Given the description of an element on the screen output the (x, y) to click on. 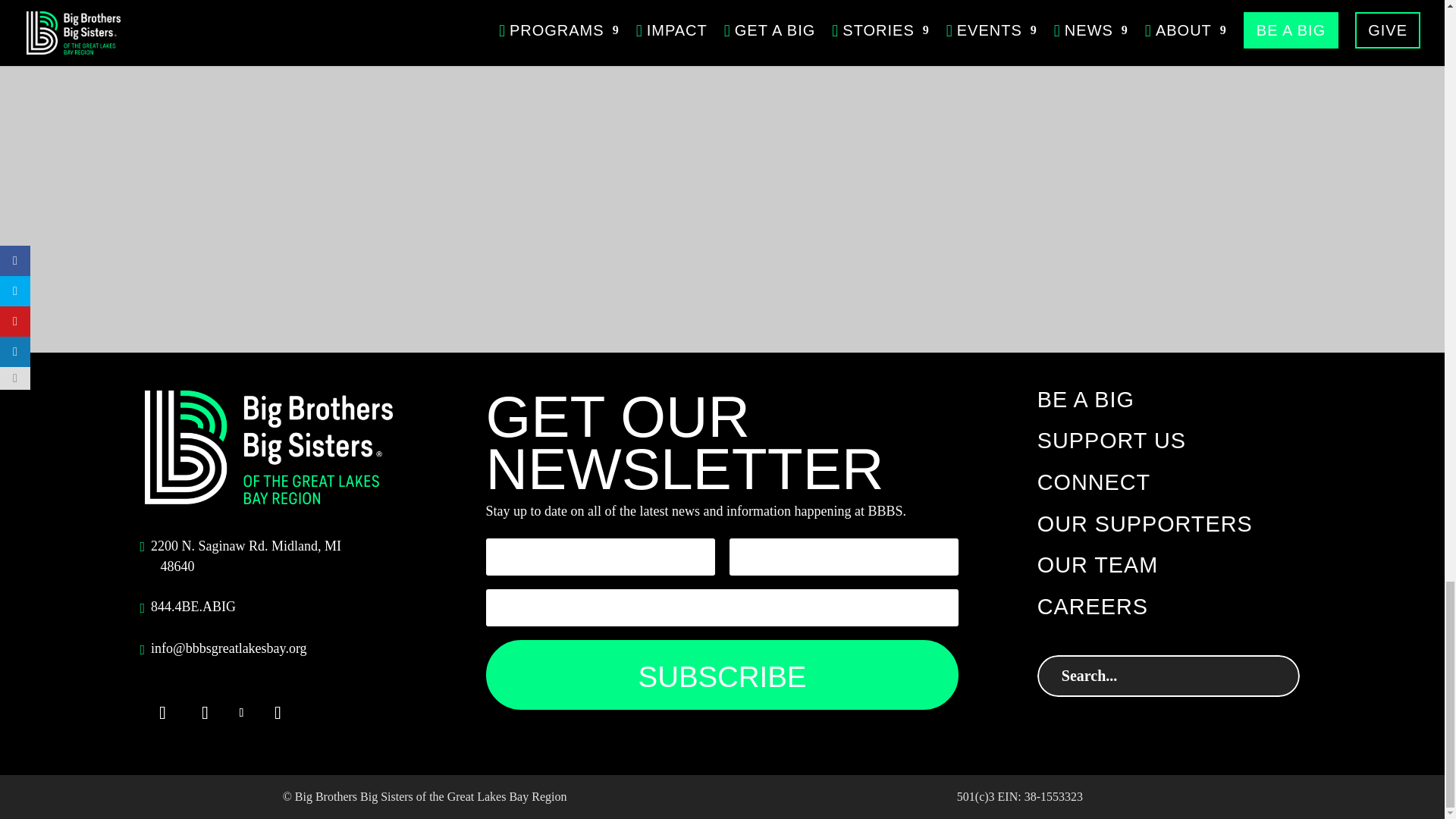
Follow on Facebook (162, 712)
Follow on LinkedIn (240, 712)
Follow on Youtube (277, 712)
Follow on Instagram (204, 712)
